Given the description of an element on the screen output the (x, y) to click on. 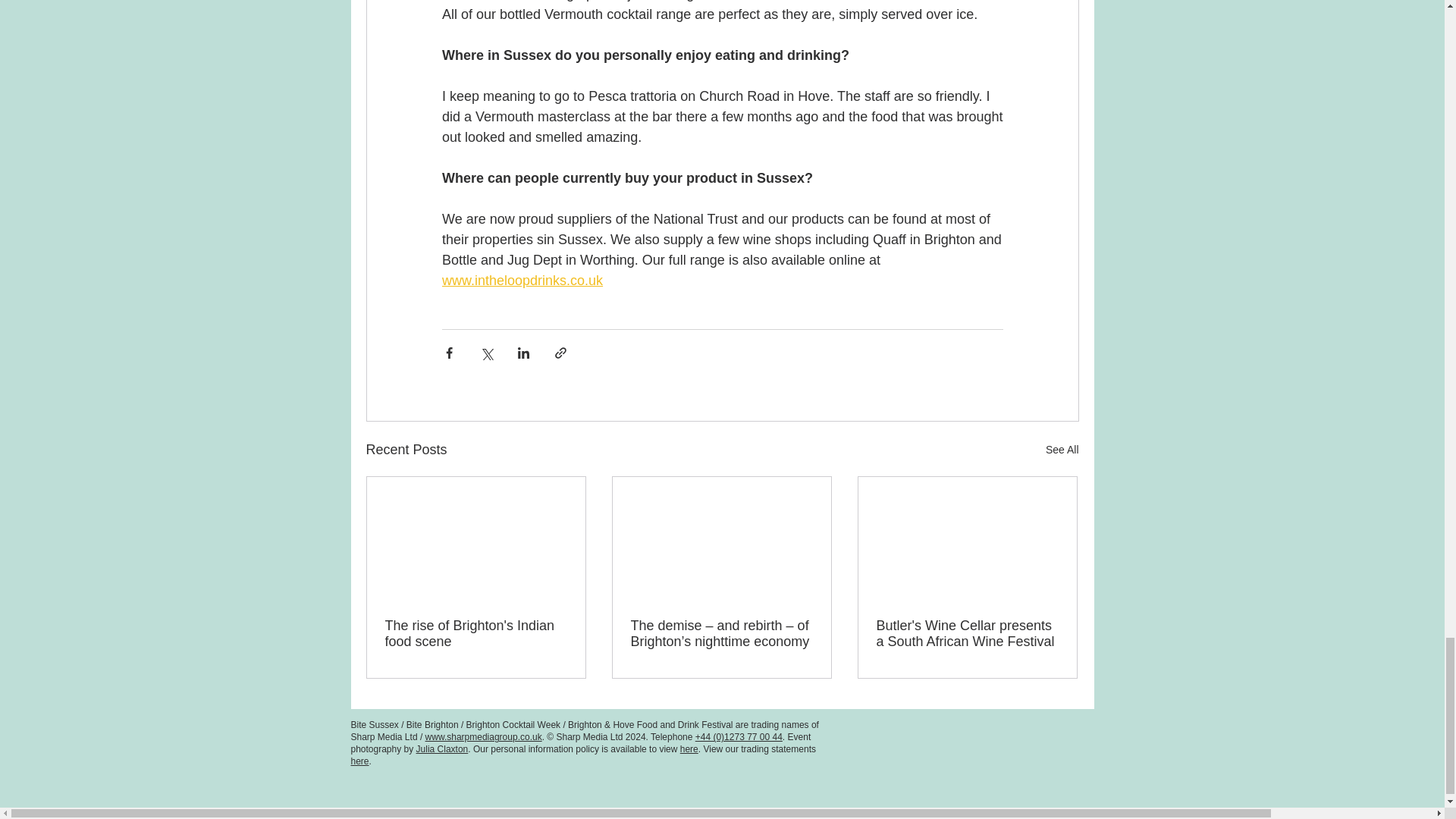
here (688, 748)
www.sharpmediagroup.co.uk (483, 737)
The rise of Brighton's Indian food scene (476, 634)
See All (1061, 449)
www.intheloopdrinks.co.uk (521, 280)
here (359, 760)
Butler's Wine Cellar presents a South African Wine Festival (967, 634)
Julia Claxton (442, 748)
